Given the description of an element on the screen output the (x, y) to click on. 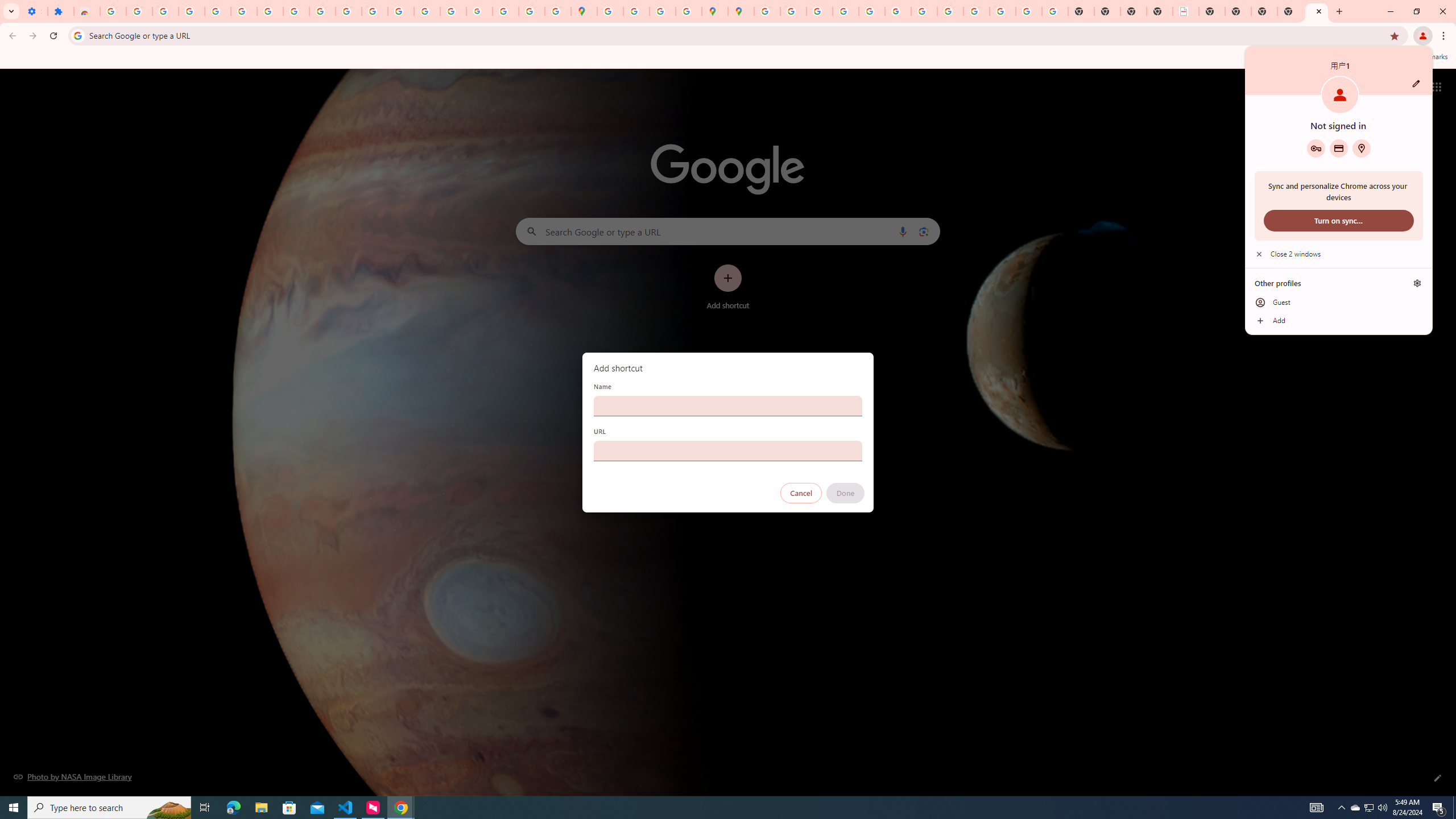
New Tab (1316, 11)
Privacy Help Center - Policies Help (845, 11)
Payment methods (1338, 148)
LAAD Defence & Security 2025 | BAE Systems (1185, 11)
File Explorer (261, 807)
Start (13, 807)
Running applications (717, 807)
YouTube (923, 11)
Visual Studio Code - 1 running window (345, 807)
Close 2 windows (1338, 253)
